Given the description of an element on the screen output the (x, y) to click on. 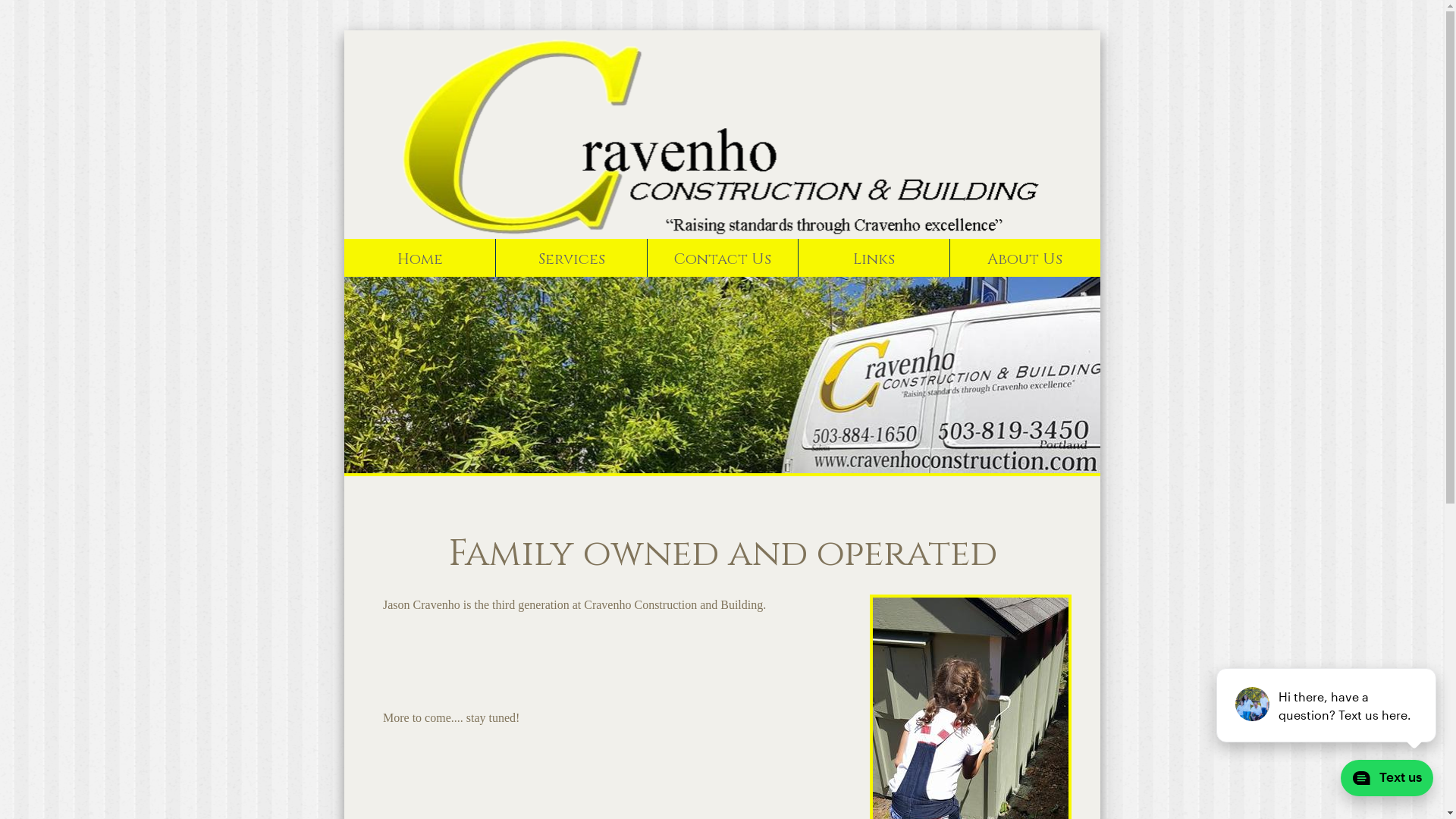
Links Element type: text (872, 257)
About Us Element type: text (1024, 257)
Contact Us Element type: text (721, 257)
Home Element type: text (419, 257)
Services Element type: text (570, 257)
